Given the description of an element on the screen output the (x, y) to click on. 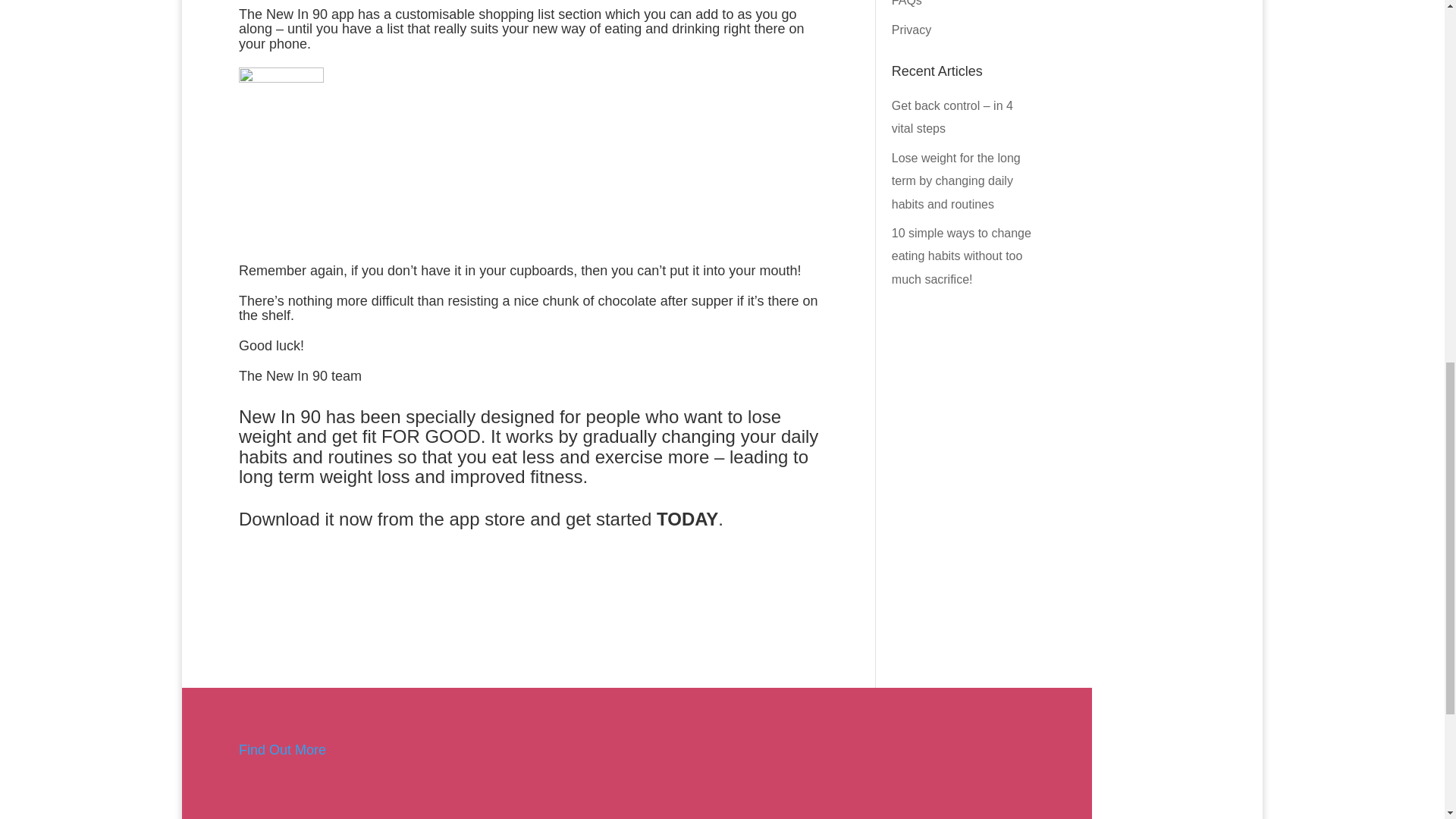
Privacy (911, 29)
FAQs (906, 3)
